Given the description of an element on the screen output the (x, y) to click on. 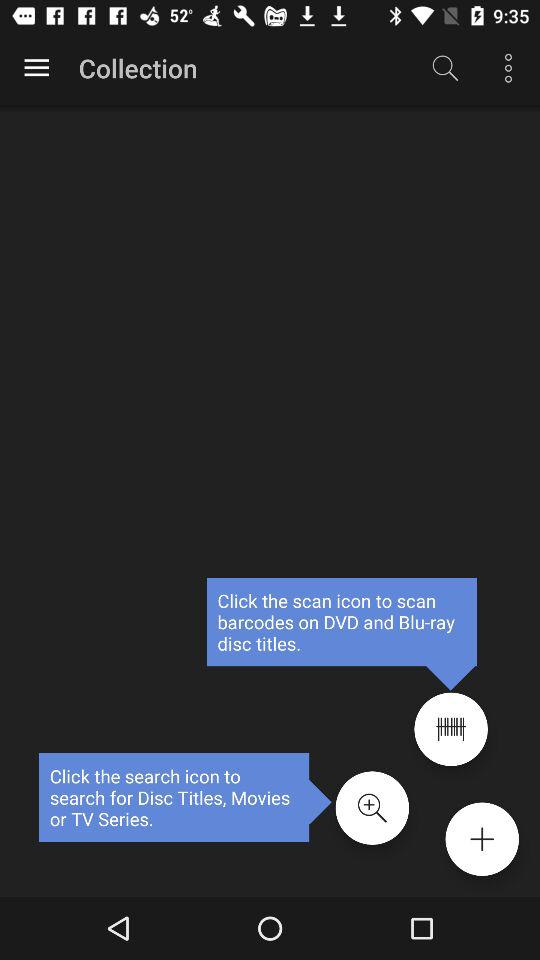
add option (482, 839)
